Given the description of an element on the screen output the (x, y) to click on. 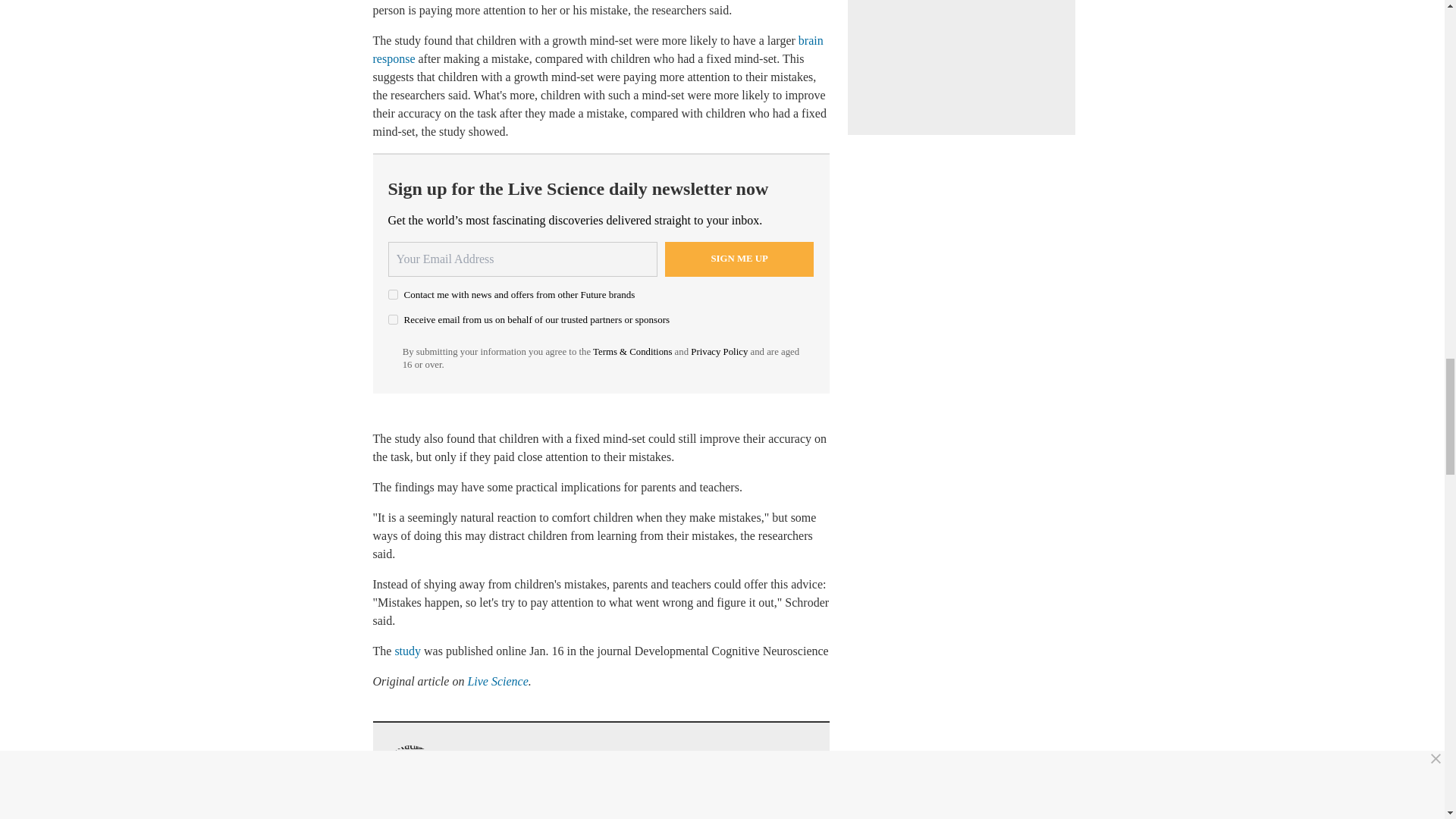
on (392, 294)
Sign me up (739, 258)
on (392, 319)
